Given the description of an element on the screen output the (x, y) to click on. 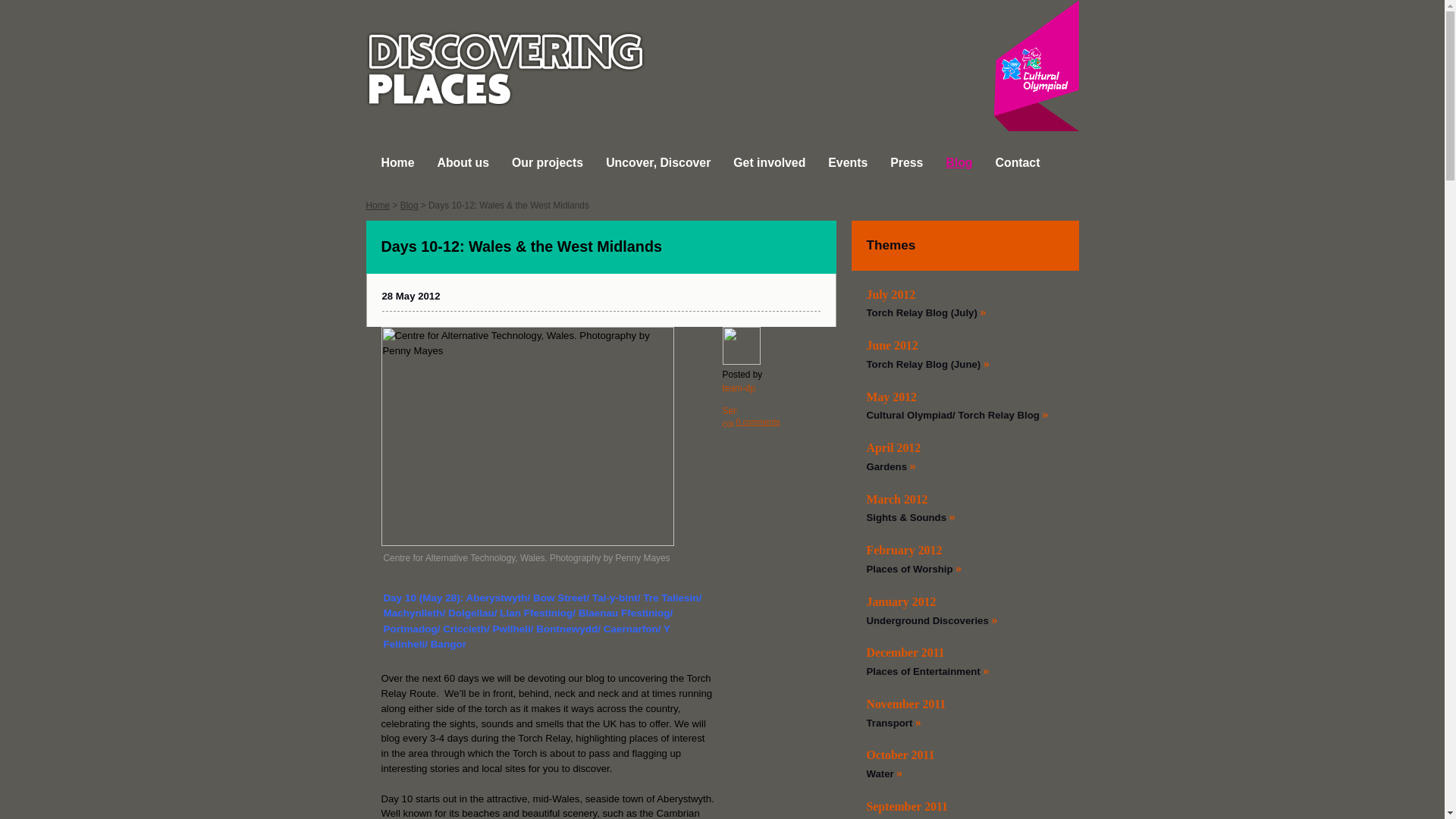
Our projects (547, 162)
Gardens (886, 466)
Home (396, 162)
Water (879, 773)
0 comments (756, 420)
Uncover, Discover (657, 162)
Get involved (769, 162)
Events (847, 162)
Transport (889, 722)
